Given the description of an element on the screen output the (x, y) to click on. 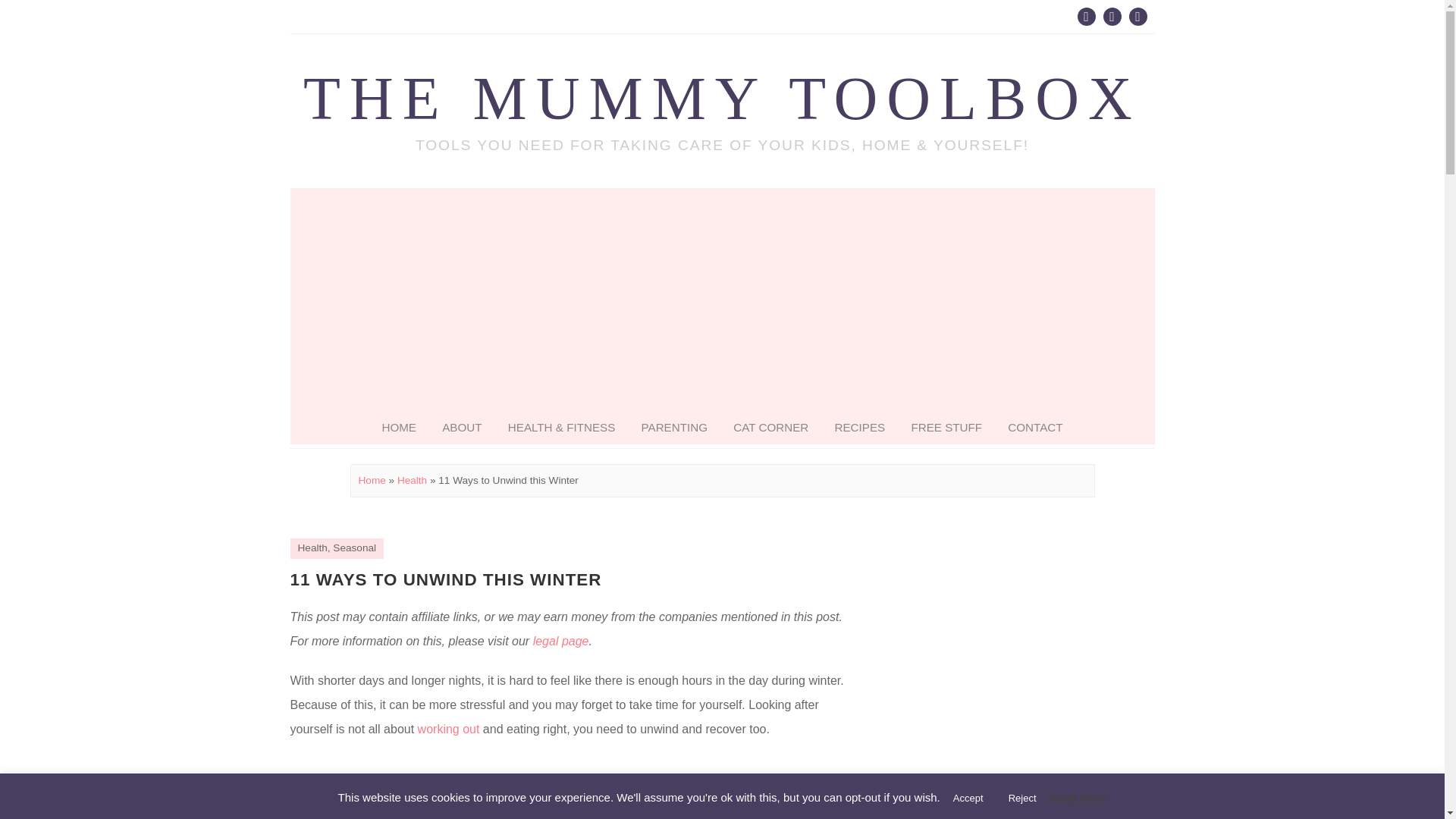
legal page (560, 640)
CAT CORNER (770, 427)
ABOUT (461, 427)
CONTACT (1034, 427)
RECIPES (859, 427)
FREE STUFF (945, 427)
Health (411, 480)
Health (311, 547)
Seasonal (354, 547)
